Given the description of an element on the screen output the (x, y) to click on. 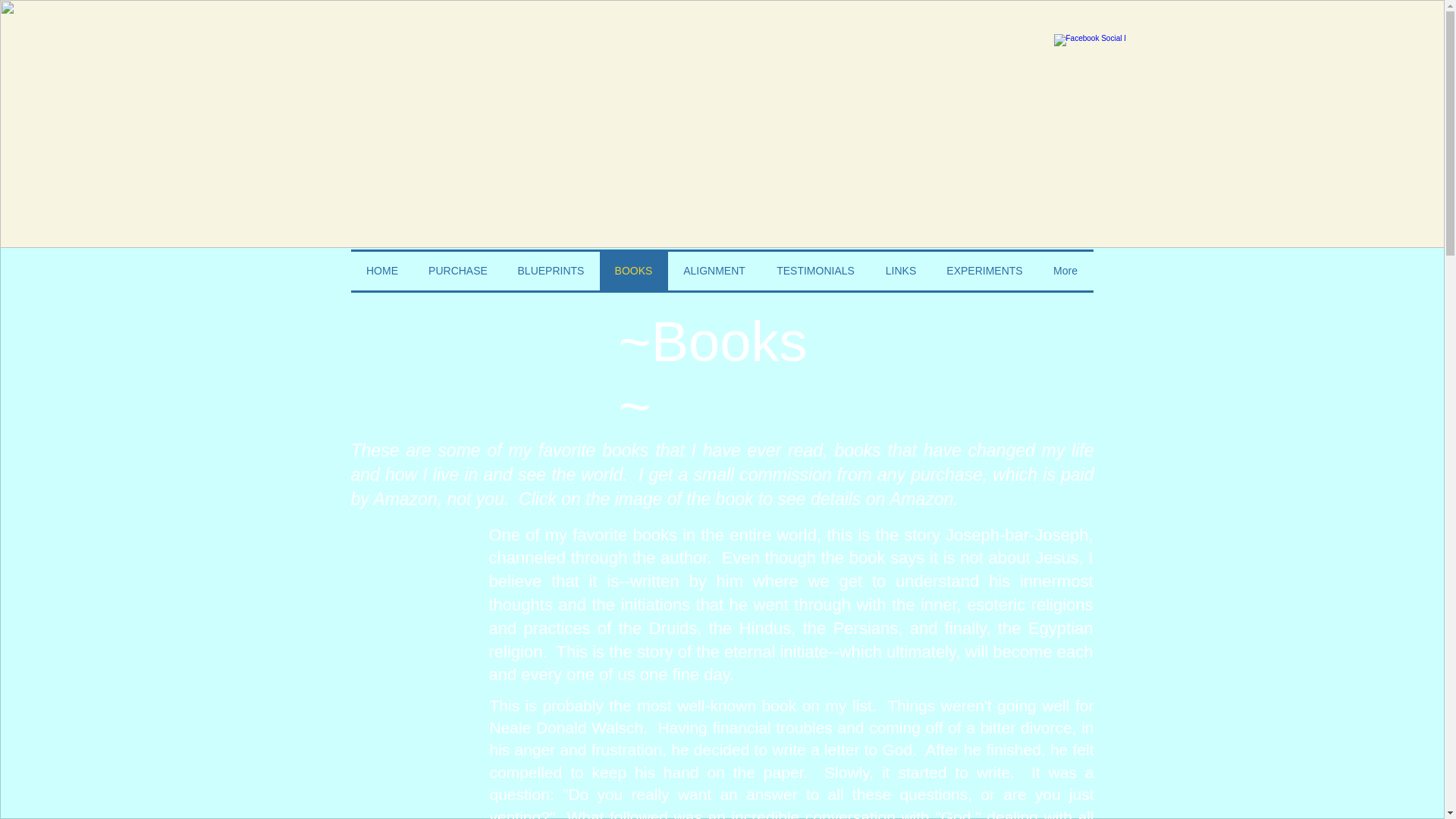
PURCHASE (457, 270)
LINKS (900, 270)
BOOKS (632, 270)
BLUEPRINTS (550, 270)
EXPERIMENTS (983, 270)
TESTIMONIALS (815, 270)
ALIGNMENT (713, 270)
HOME (381, 270)
